Given the description of an element on the screen output the (x, y) to click on. 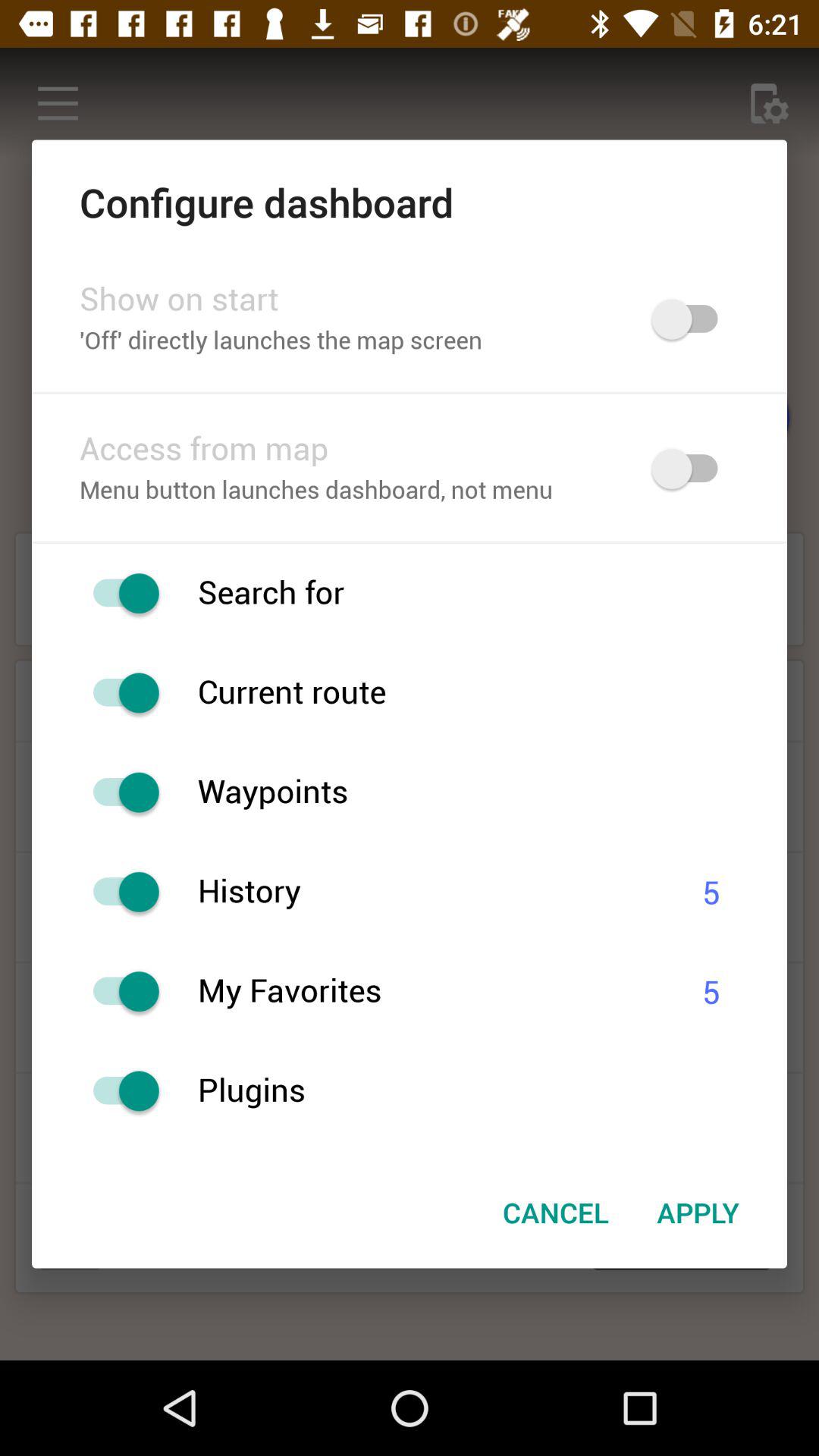
change option (118, 792)
